Given the description of an element on the screen output the (x, y) to click on. 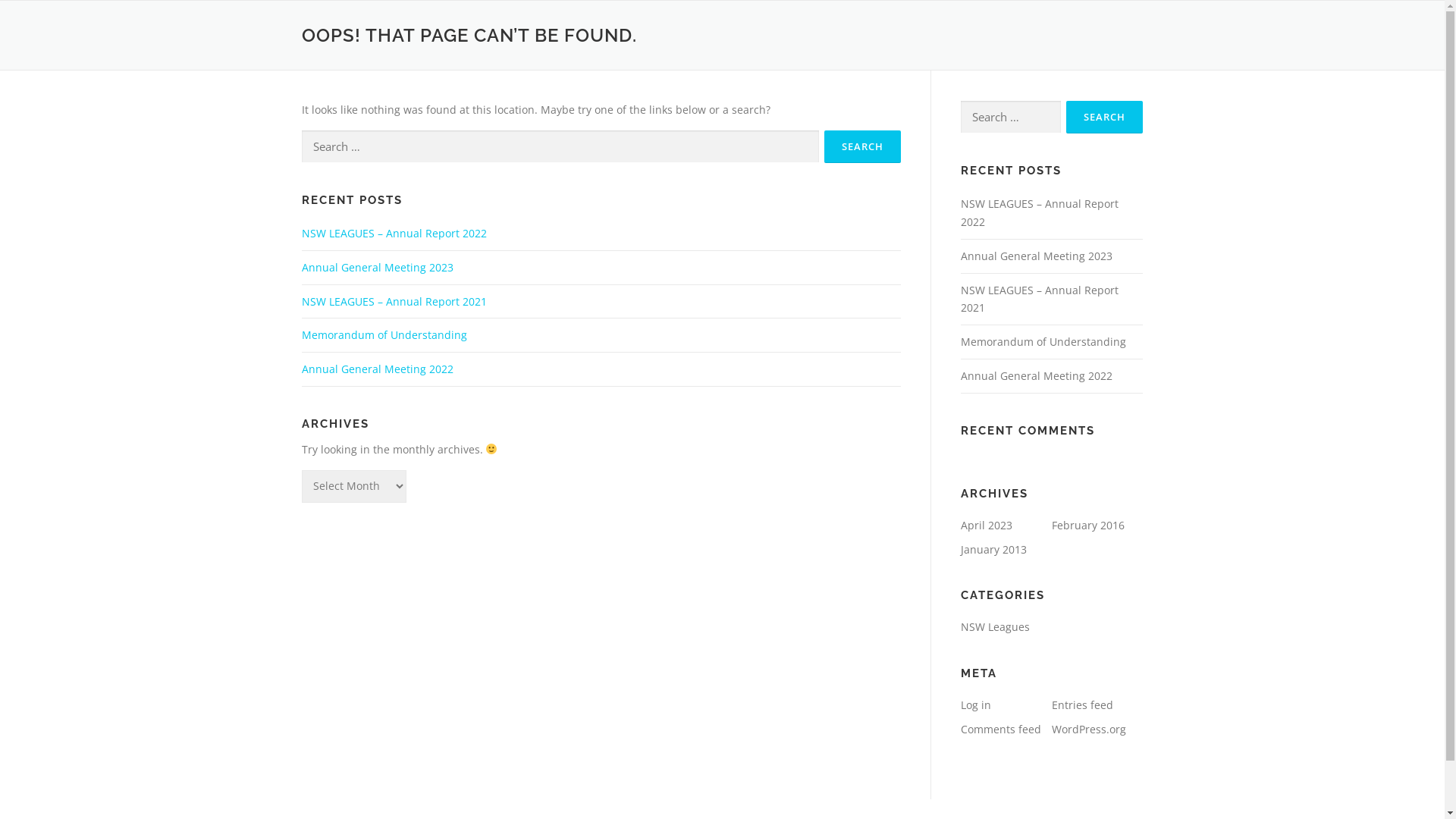
Annual General Meeting 2022 Element type: text (377, 368)
Memorandum of Understanding Element type: text (1042, 341)
Annual General Meeting 2022 Element type: text (1035, 375)
Search Element type: text (861, 146)
January 2013 Element type: text (993, 549)
Search Element type: text (1104, 116)
Comments feed Element type: text (1000, 728)
Back To Top Element type: hover (1372, 790)
Annual General Meeting 2023 Element type: text (377, 267)
April 2023 Element type: text (985, 524)
Annual General Meeting 2023 Element type: text (1035, 255)
Entries feed Element type: text (1081, 704)
February 2016 Element type: text (1087, 524)
NSW Leagues Element type: text (994, 626)
Log in Element type: text (975, 704)
WordPress.org Element type: text (1088, 728)
Memorandum of Understanding Element type: text (384, 334)
